Given the description of an element on the screen output the (x, y) to click on. 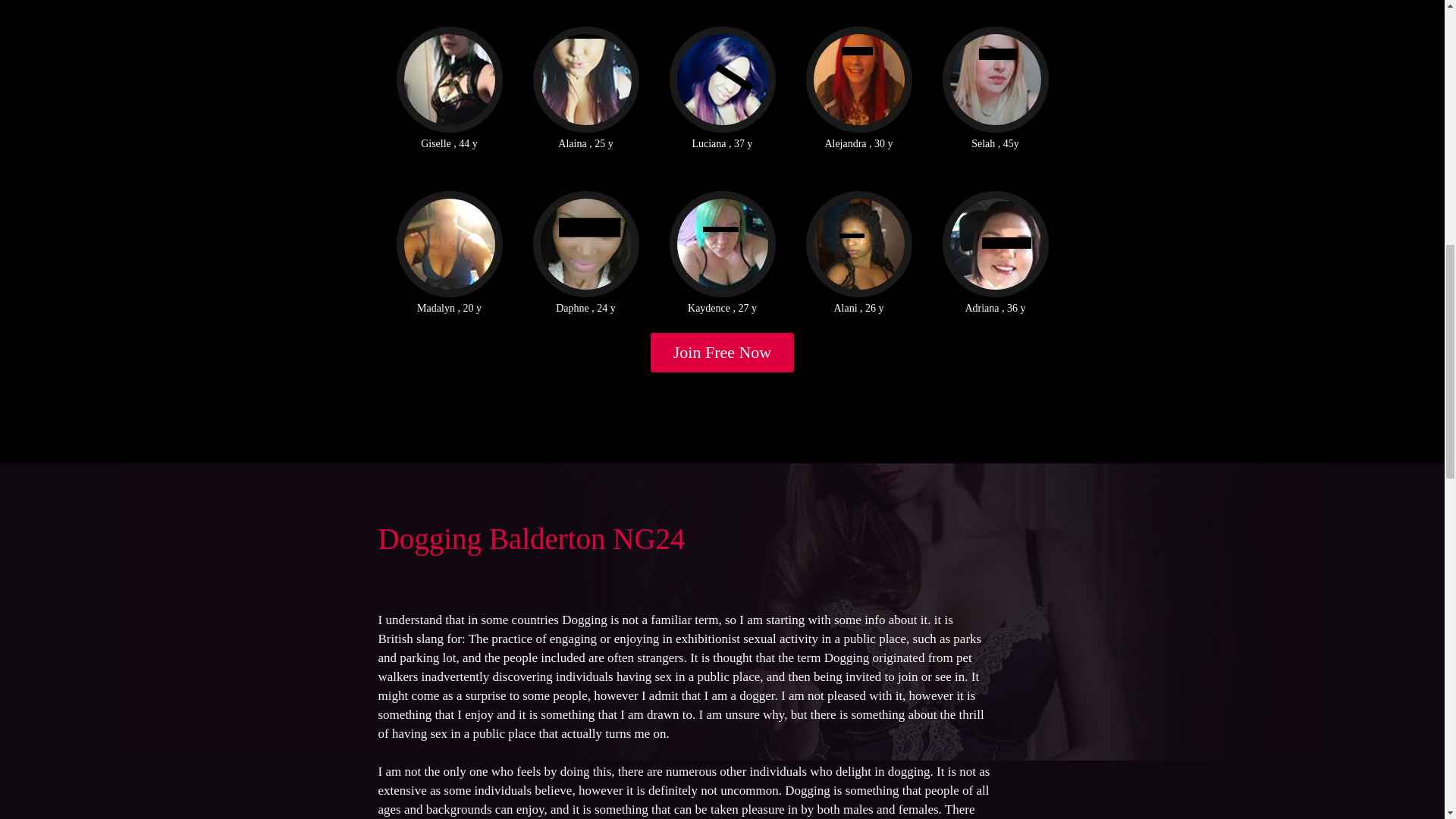
Join Free Now (722, 352)
Dogging Balderton NG24 (530, 538)
Join (722, 352)
